Given the description of an element on the screen output the (x, y) to click on. 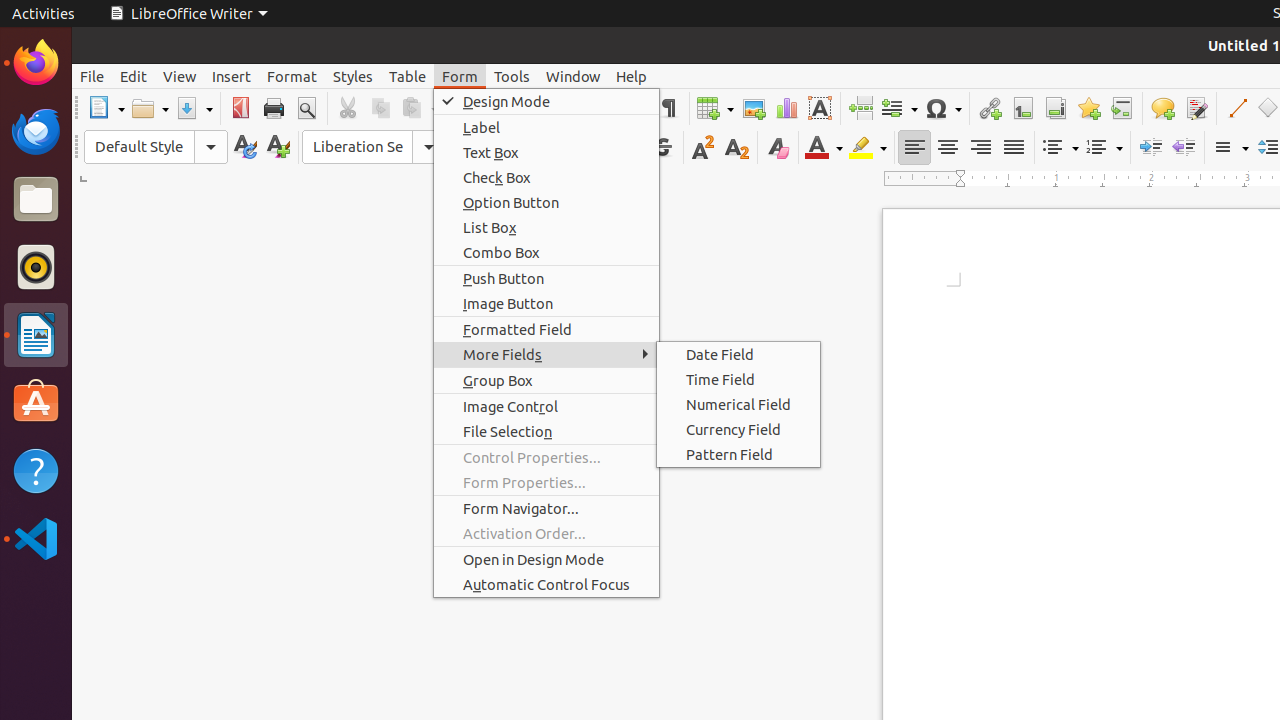
Styles Element type: menu (353, 76)
Undo Element type: push-button (512, 108)
Label Element type: check-menu-item (546, 127)
Ubuntu Software Element type: push-button (36, 402)
Spelling Element type: push-button (635, 108)
